Given the description of an element on the screen output the (x, y) to click on. 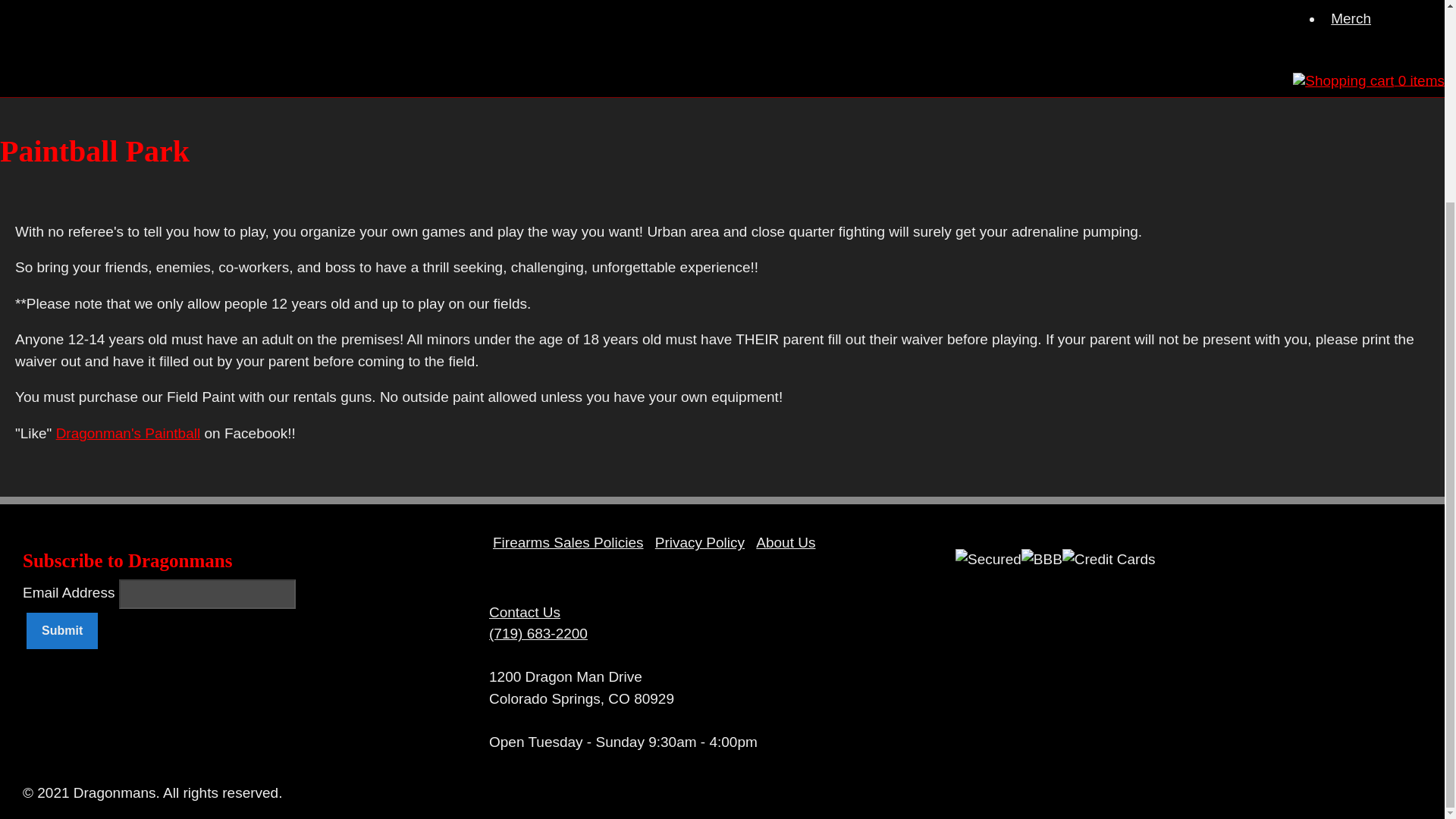
Contact Us (524, 611)
Submit (61, 630)
Firearms Sales Policies (568, 542)
Privacy Policy (699, 542)
About Us (785, 542)
Dragonman's Paintball (128, 433)
Submit (61, 630)
